Given the description of an element on the screen output the (x, y) to click on. 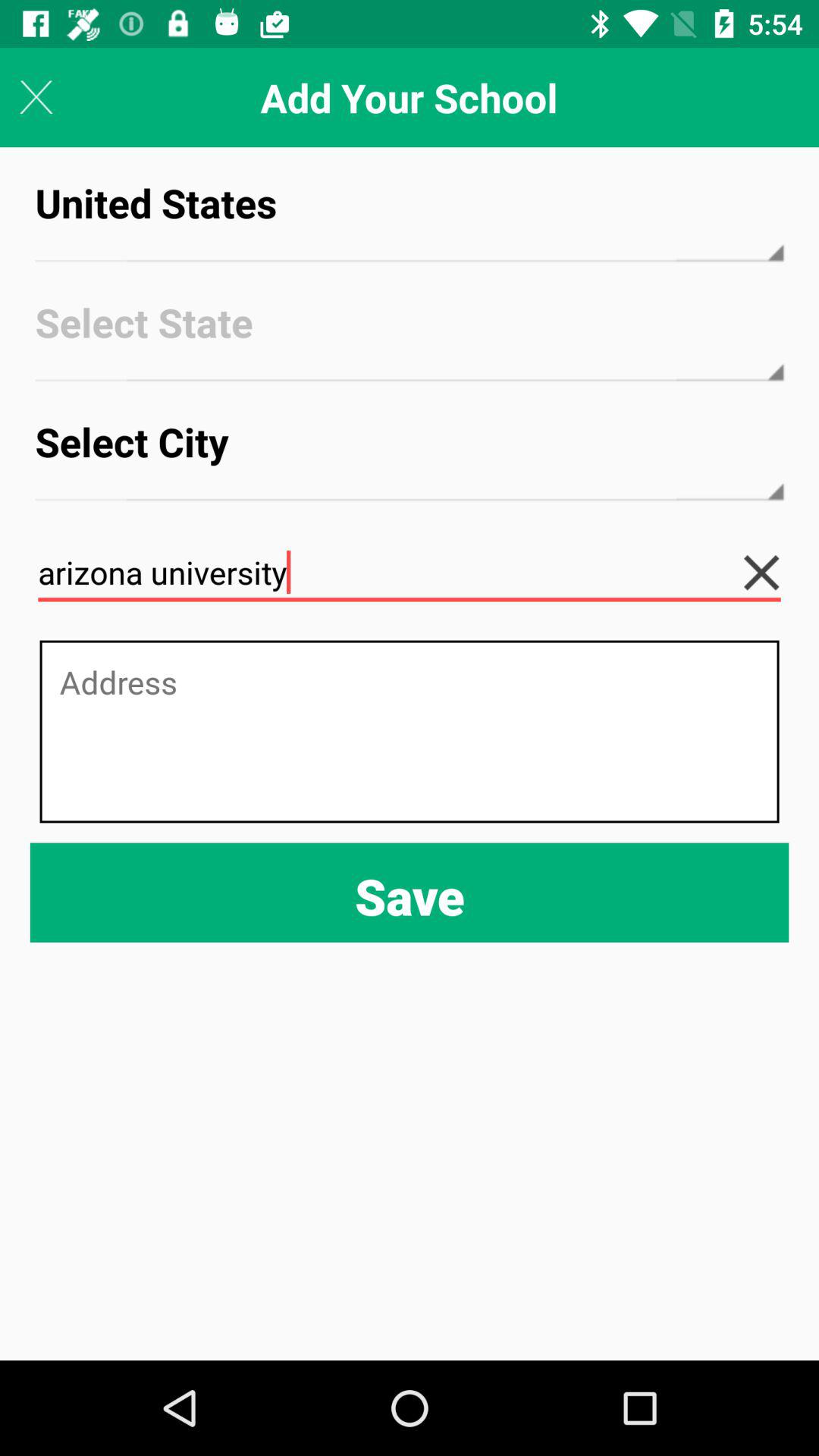
turn on united states item (409, 216)
